Given the description of an element on the screen output the (x, y) to click on. 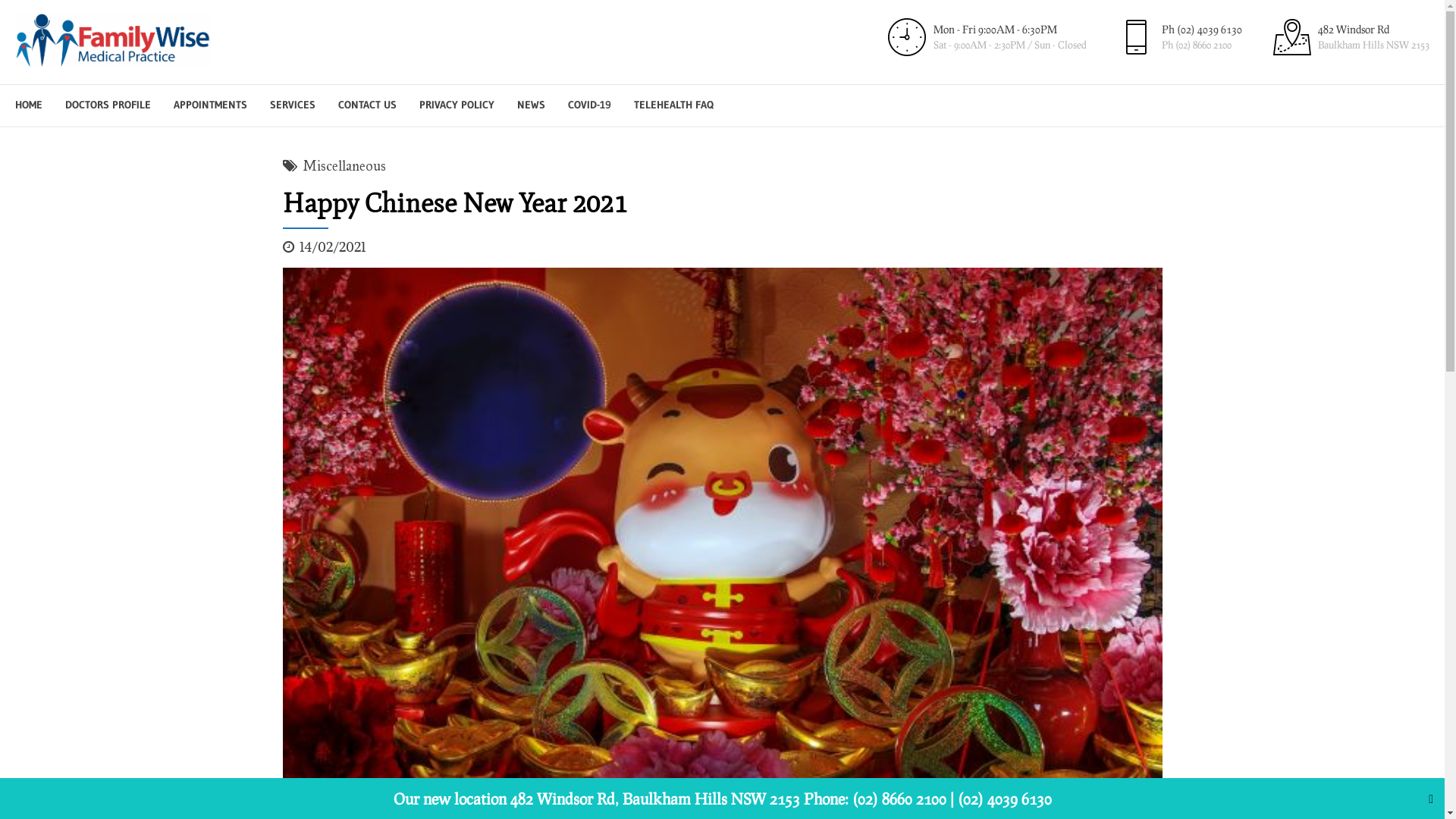
TELEHEALTH FAQ Element type: text (673, 104)
APPOINTMENTS Element type: text (210, 104)
NEWS Element type: text (531, 104)
DOCTORS PROFILE Element type: text (107, 104)
HOME Element type: text (28, 104)
Miscellaneous Element type: text (343, 166)
482 Windsor Rd
Baulkham Hills NSW 2153 Element type: text (1348, 36)
PRIVACY POLICY Element type: text (456, 104)
SERVICES Element type: text (292, 104)
CONTACT US Element type: text (367, 104)
COVID-19 Element type: text (589, 104)
